Given the description of an element on the screen output the (x, y) to click on. 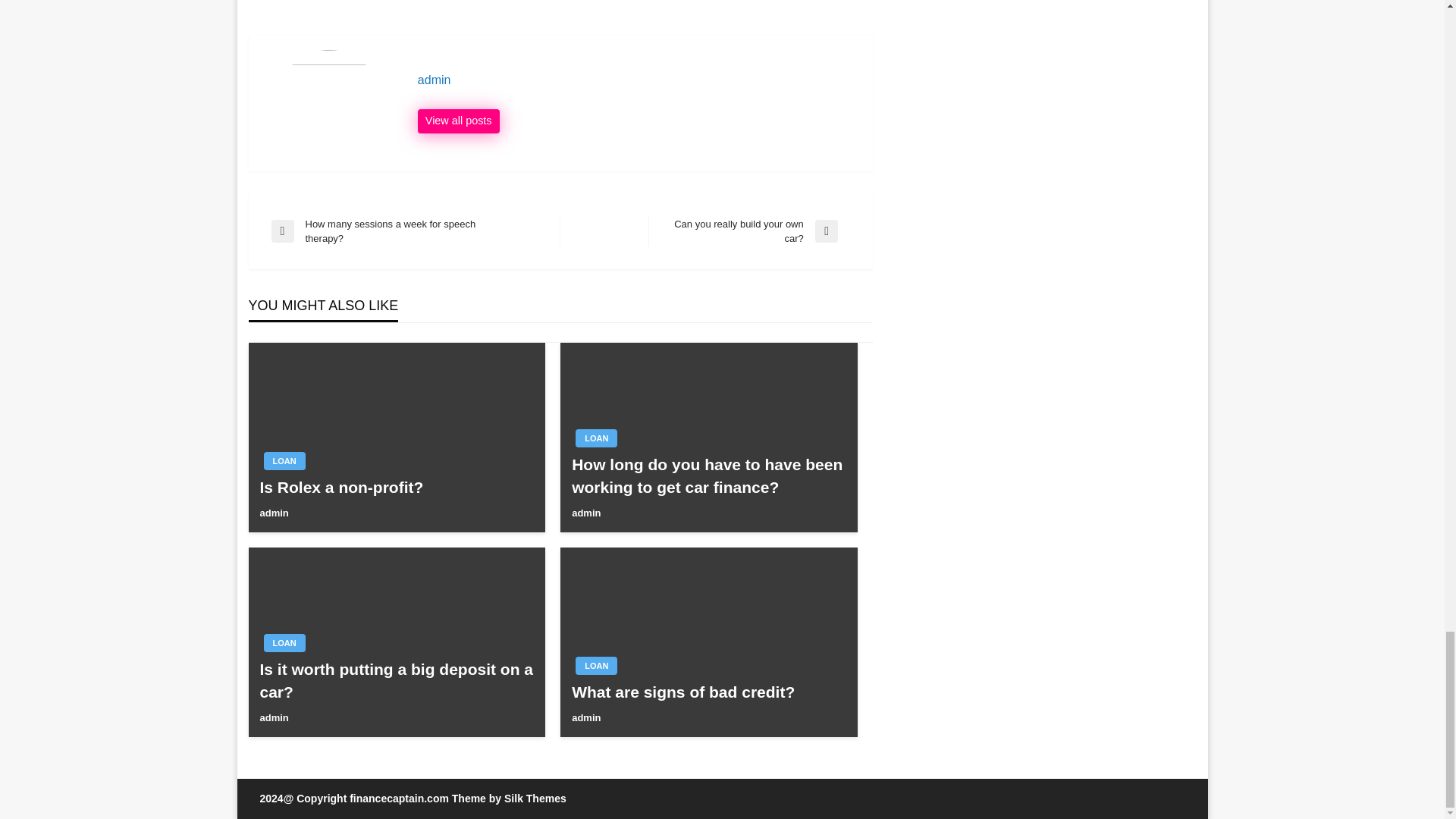
Is it worth putting a big deposit on a car? (396, 680)
admin (585, 512)
LOAN (284, 461)
Is Rolex a non-profit? (396, 486)
admin (637, 79)
admin (273, 512)
What are signs of bad credit? (708, 691)
admin (585, 717)
View all posts (458, 120)
admin (273, 717)
